Given the description of an element on the screen output the (x, y) to click on. 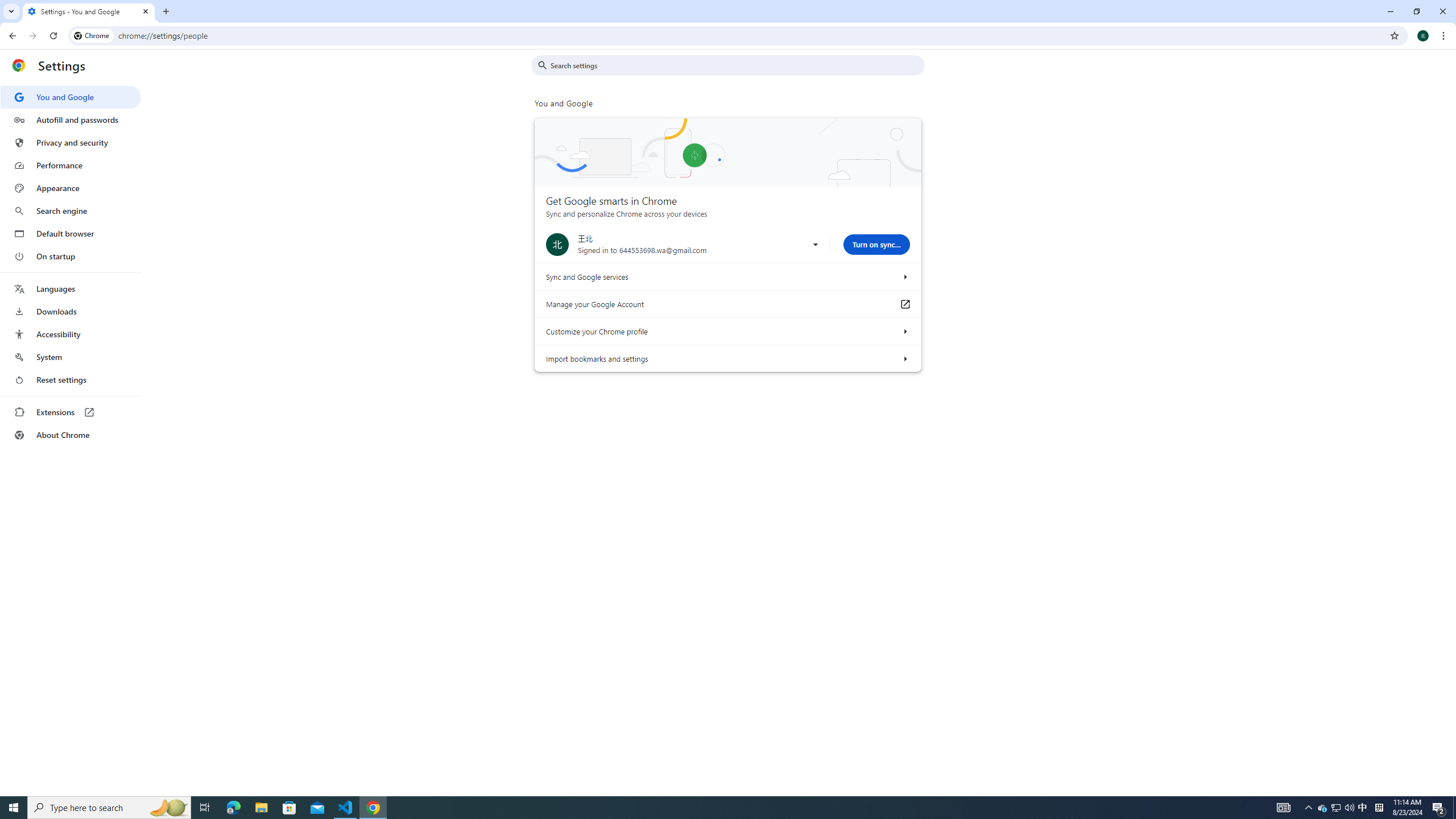
Manage your Google Account (904, 303)
AutomationID: menu (71, 265)
Reset settings (70, 379)
You and Google (70, 96)
Languages (70, 288)
Extensions (70, 412)
Customize your Chrome profile (904, 330)
Search settings (735, 65)
